Given the description of an element on the screen output the (x, y) to click on. 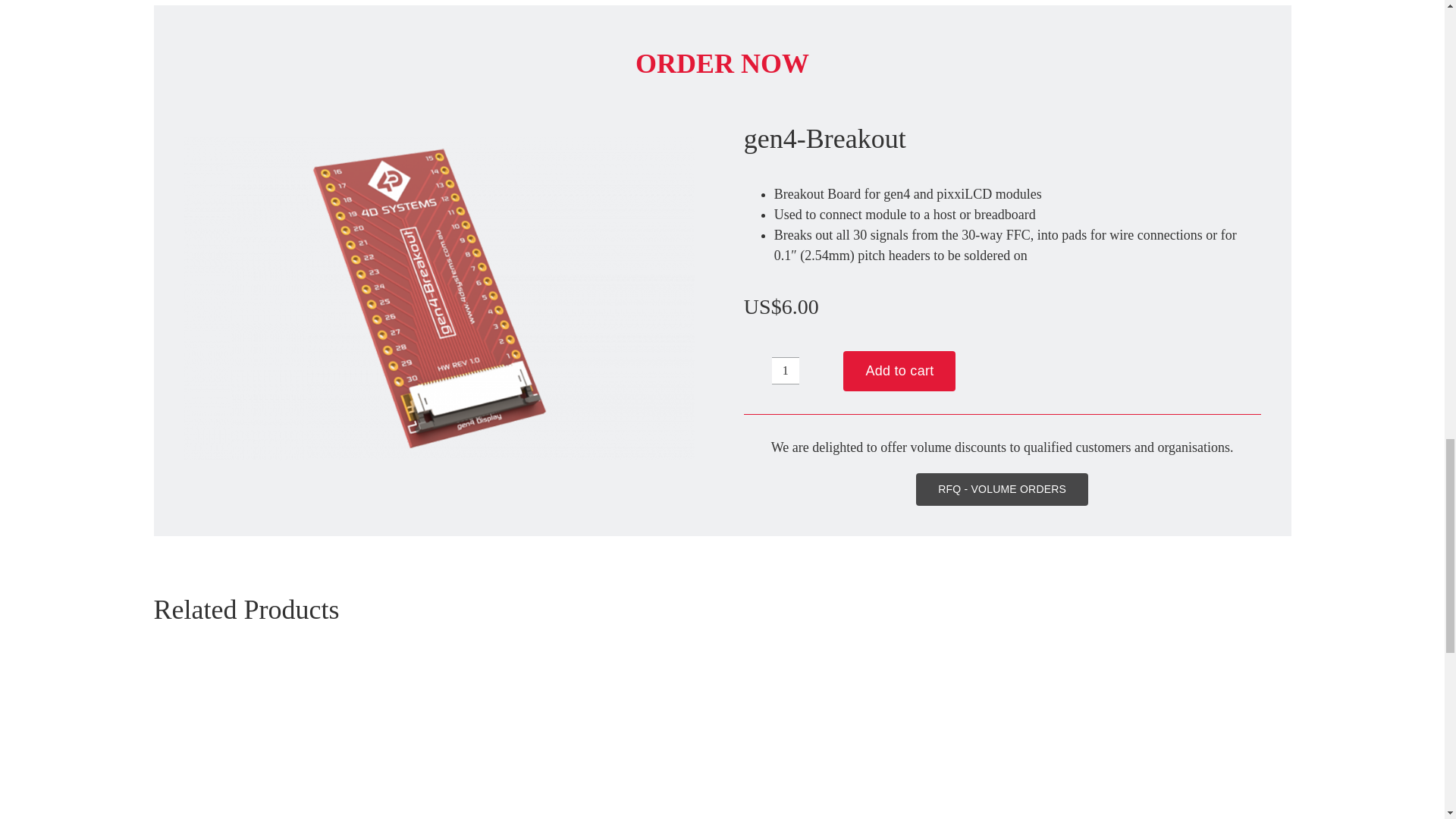
1 (785, 370)
